Given the description of an element on the screen output the (x, y) to click on. 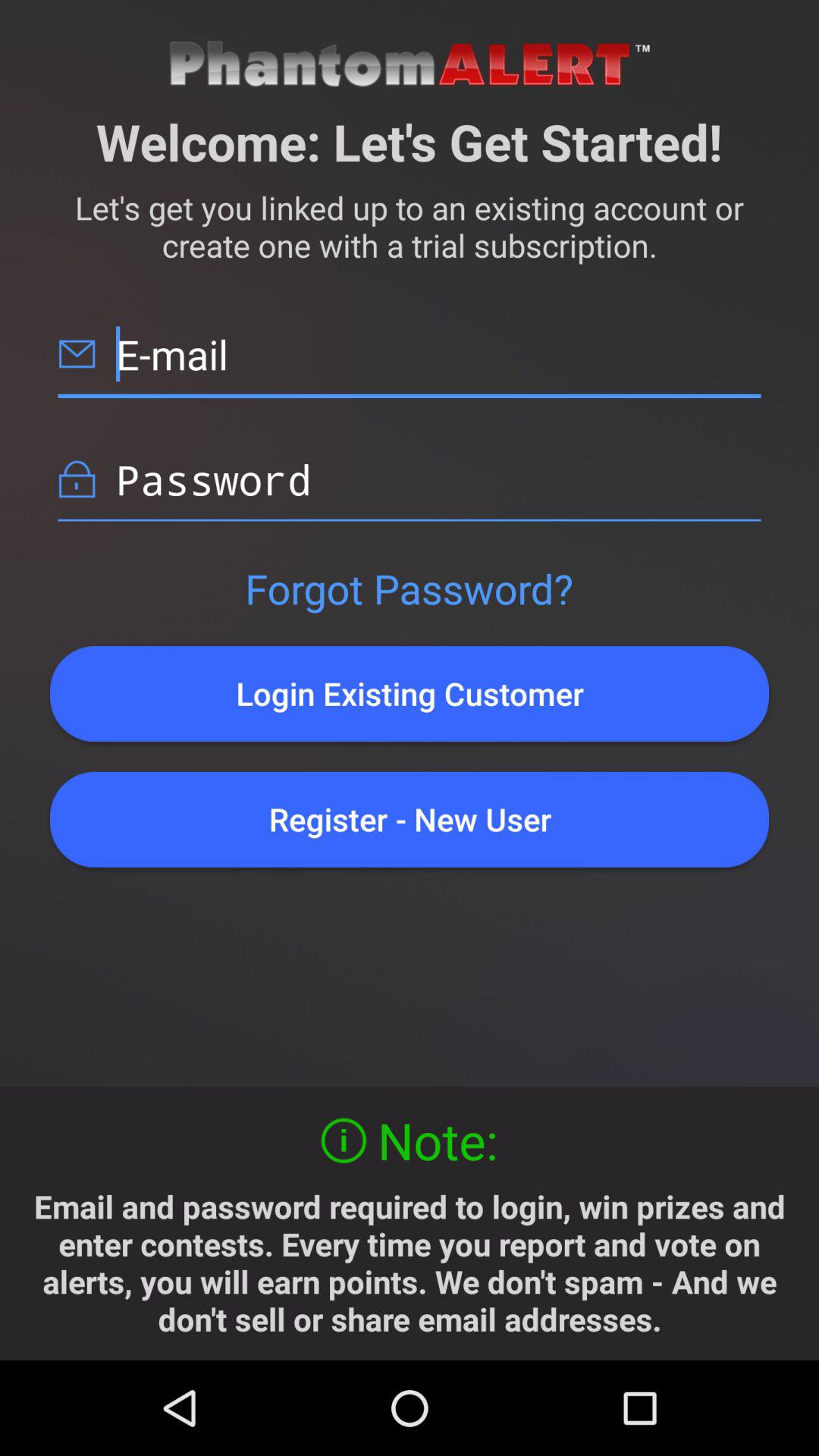
turn on register - new user (409, 819)
